Given the description of an element on the screen output the (x, y) to click on. 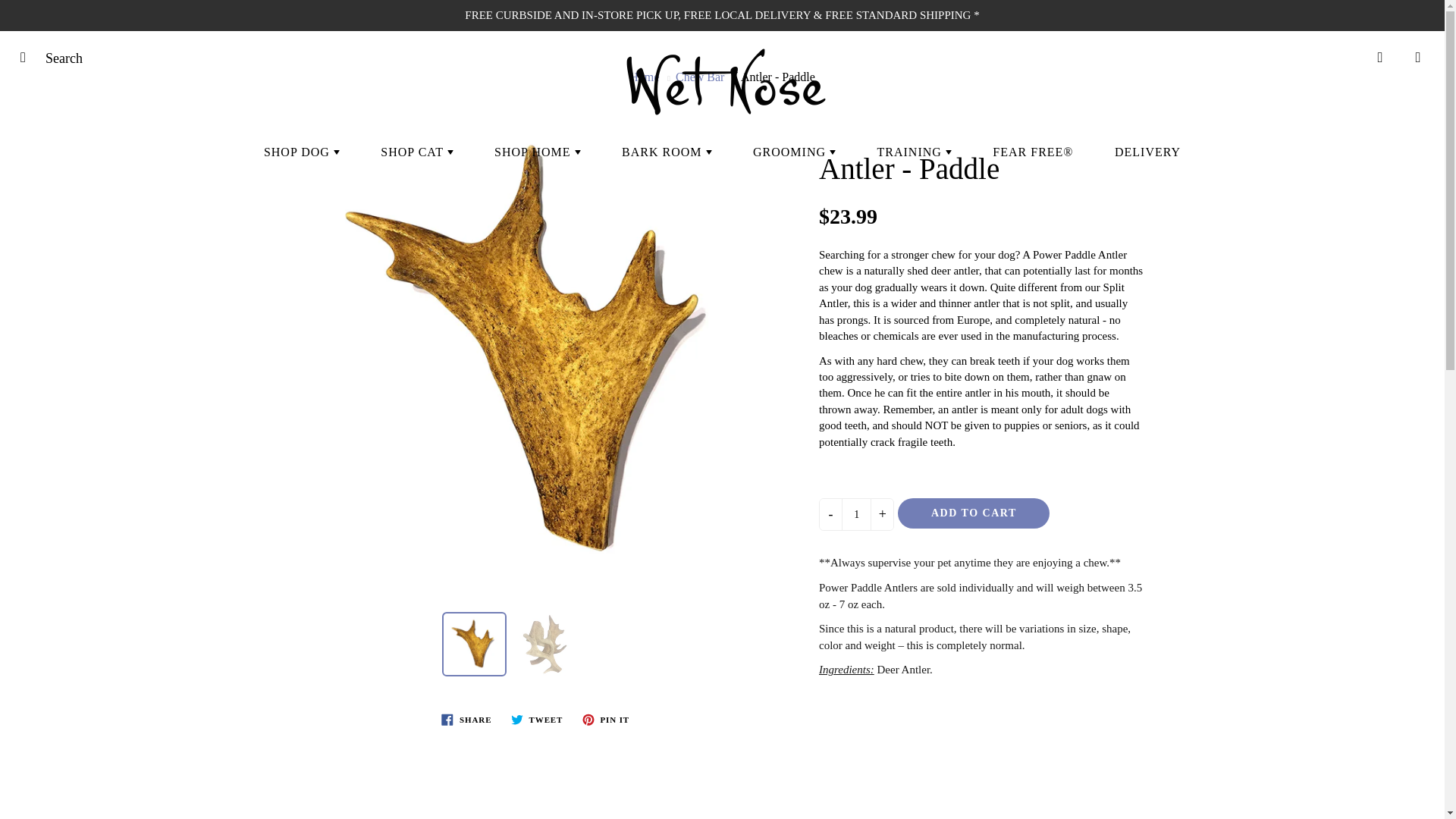
Antler - Paddle (474, 644)
Search (28, 56)
Antler - Paddle (545, 643)
Tweet on Twitter (537, 719)
My account (1379, 56)
Share on Facebook (466, 719)
1 (855, 513)
Pin on Pinterest (605, 719)
SHOP DOG (301, 152)
You have 0 items in your cart (1417, 56)
Home (643, 76)
